Given the description of an element on the screen output the (x, y) to click on. 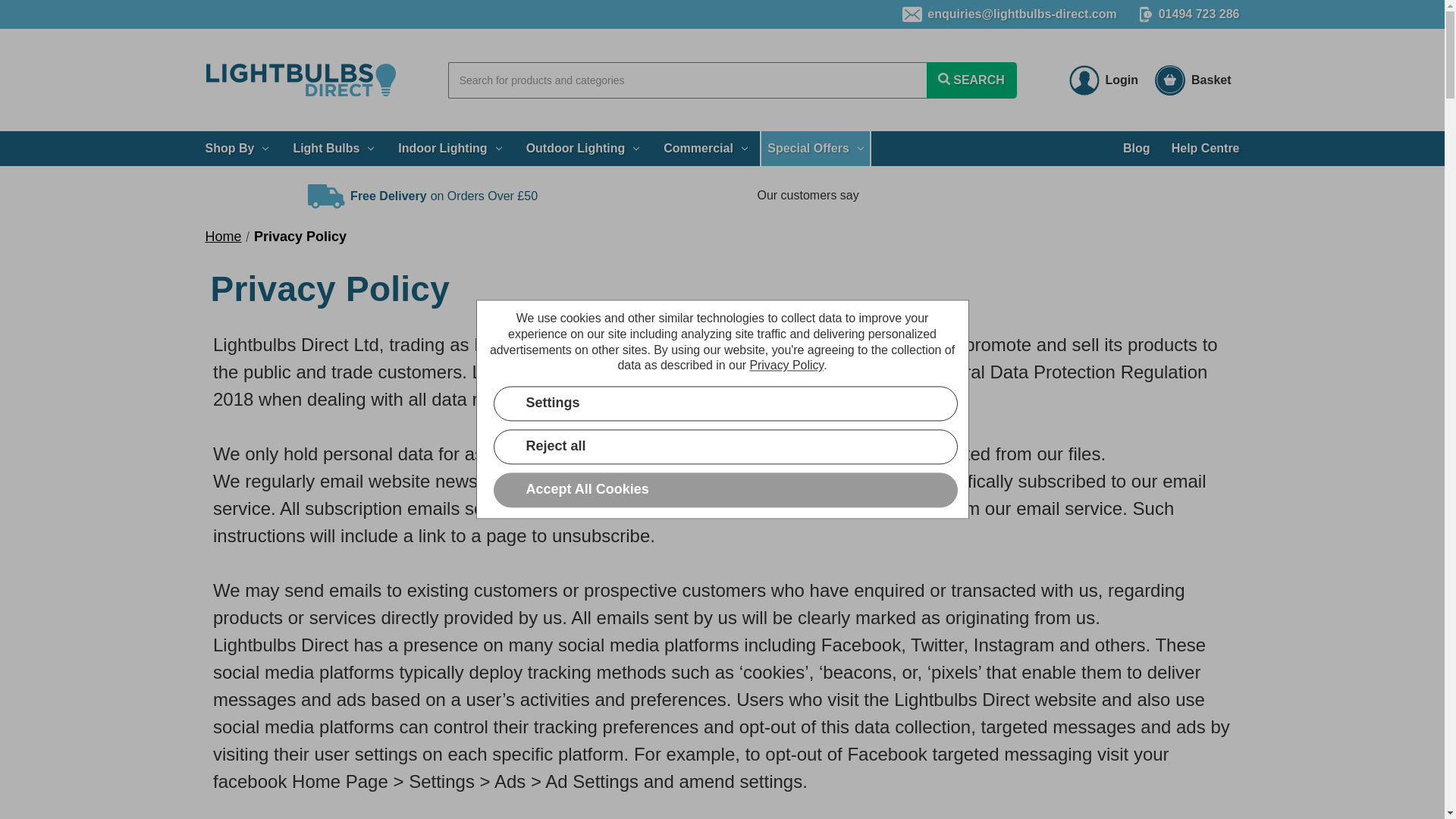
01494 723 286 (1189, 14)
SEARCH (971, 80)
Basket (1193, 80)
Shop By (236, 148)
Login (1104, 80)
Lightbulbs Direct (301, 79)
